Given the description of an element on the screen output the (x, y) to click on. 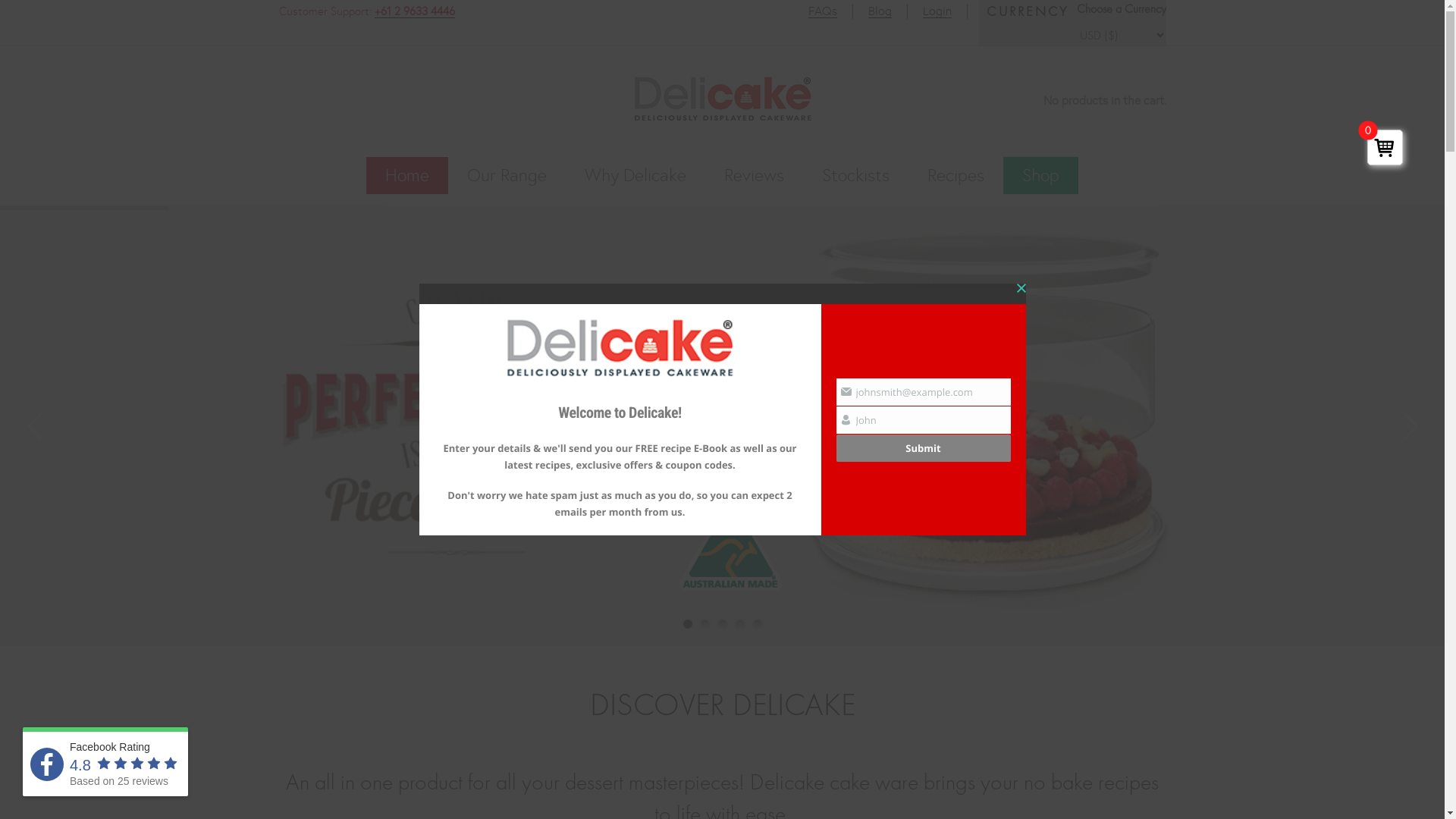
DELICAKE Element type: text (340, 92)
Reviews Element type: text (754, 175)
Home Element type: text (407, 175)
Shop Element type: text (1040, 175)
Submit Element type: text (922, 447)
FAQs Element type: text (822, 10)
Stockists Element type: text (855, 175)
Our Range Element type: text (506, 175)
Blog Element type: text (879, 10)
Login Element type: text (936, 10)
Recipes Element type: text (955, 175)
Why Delicake Element type: text (635, 175)
+61 2 9633 4446 Element type: text (414, 11)
